Given the description of an element on the screen output the (x, y) to click on. 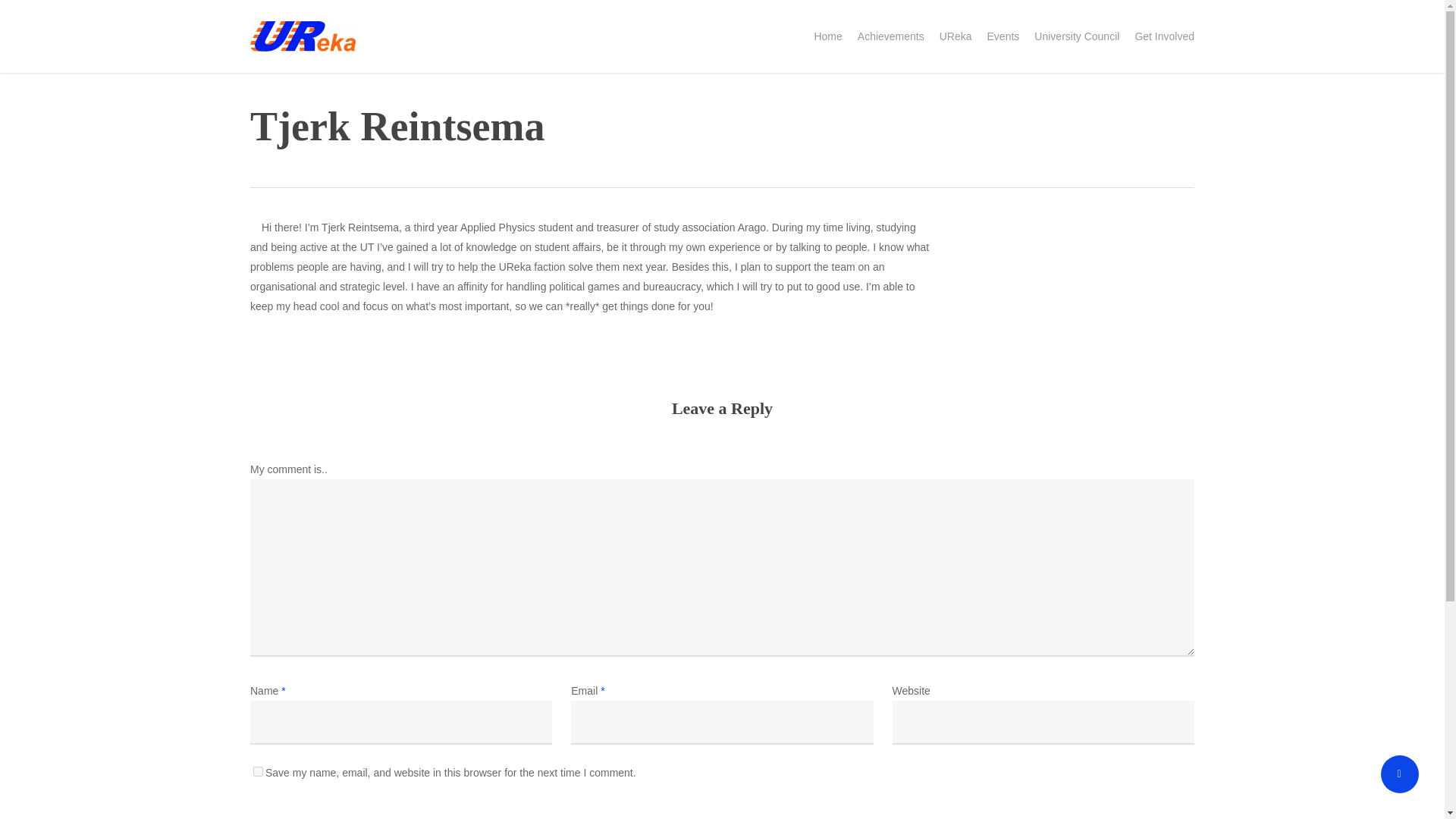
Home (827, 36)
Get Involved (1163, 36)
Achievements (890, 36)
UReka (955, 36)
yes (258, 771)
University Council (1076, 36)
Events (1003, 36)
